Given the description of an element on the screen output the (x, y) to click on. 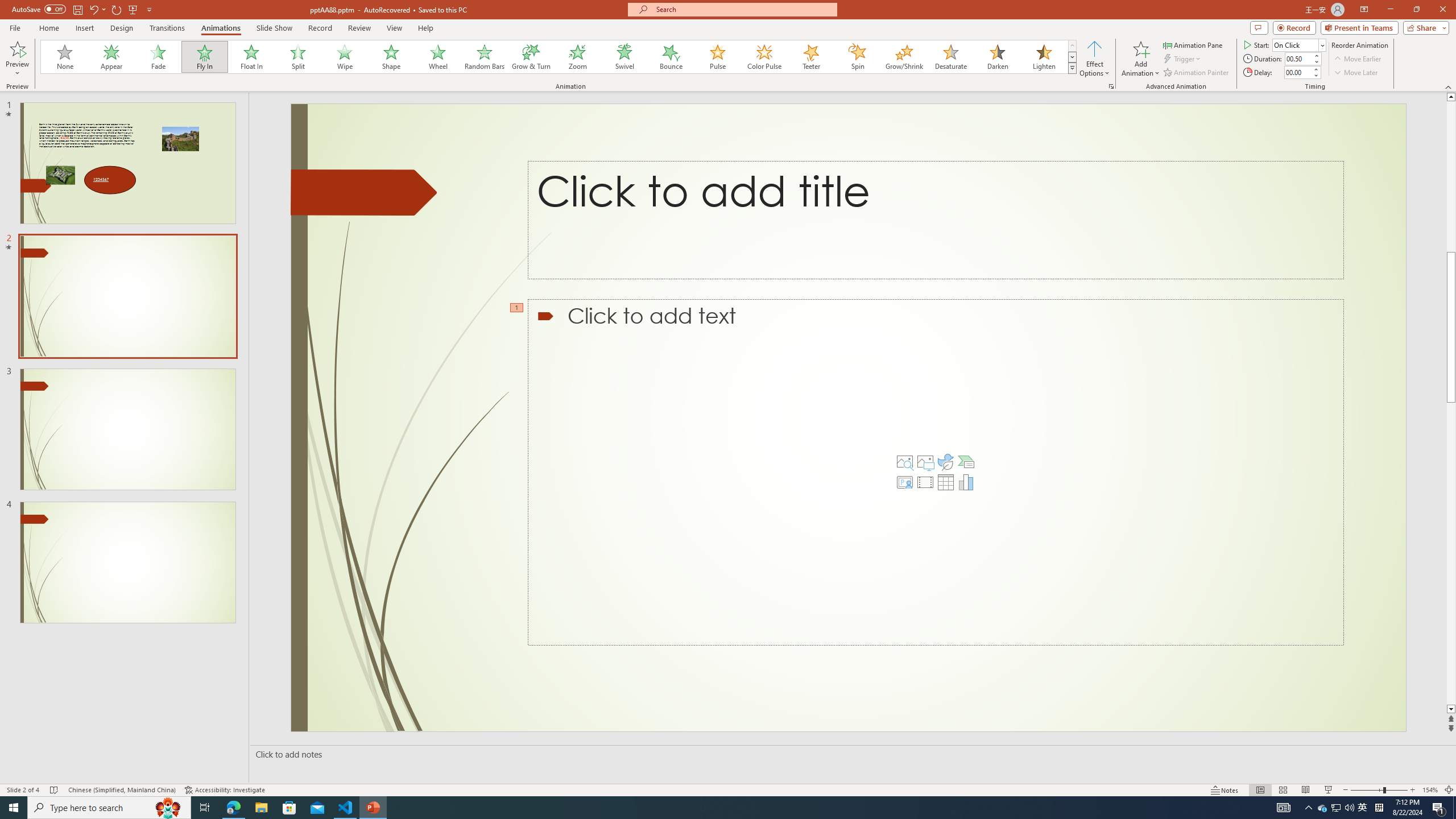
Move Earlier (1357, 58)
Desaturate (950, 56)
Animation Duration (1298, 58)
Appear (111, 56)
Wheel (437, 56)
Content Placeholder (934, 471)
Spin (857, 56)
